Given the description of an element on the screen output the (x, y) to click on. 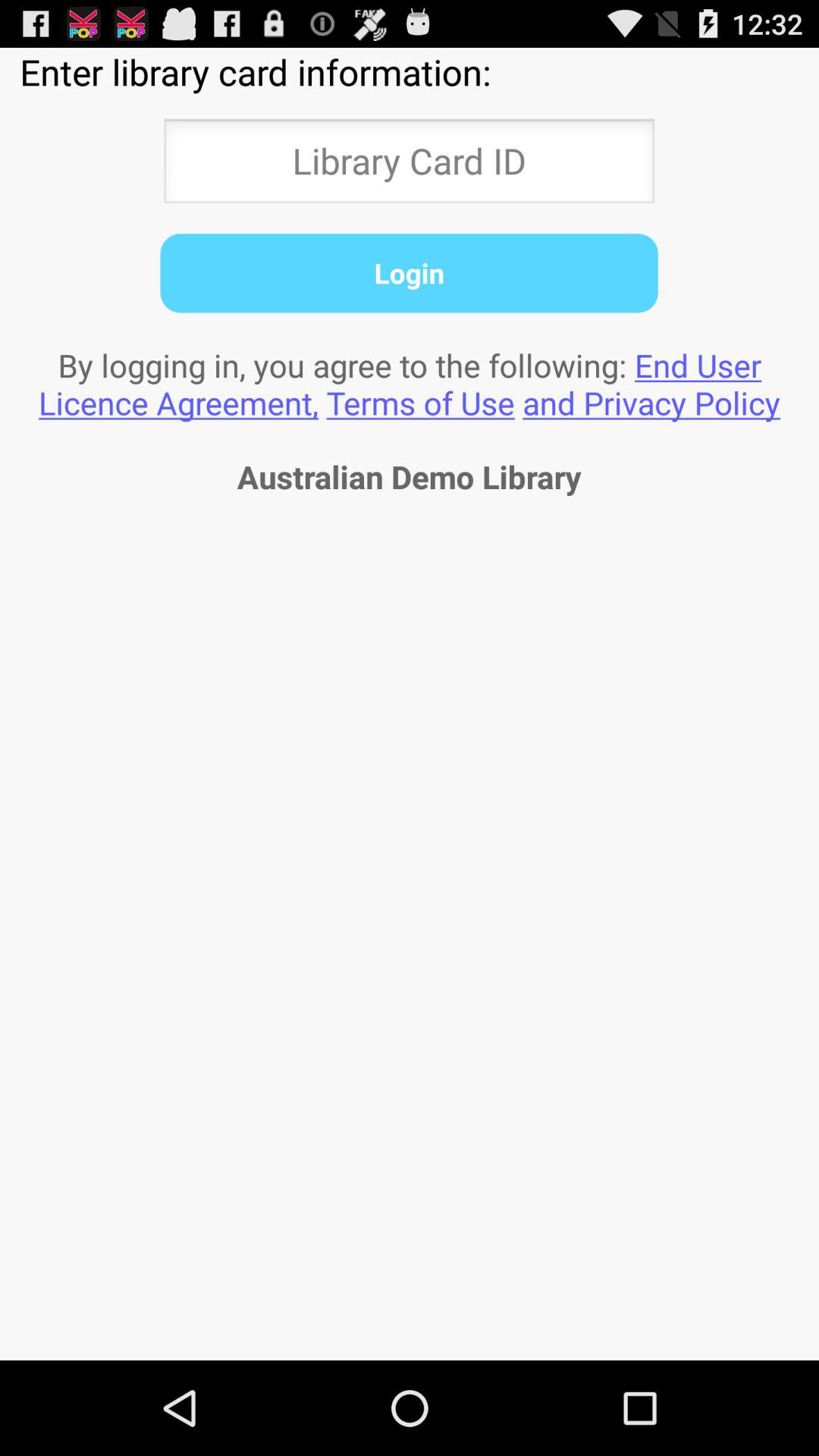
press item above by logging in app (409, 272)
